Given the description of an element on the screen output the (x, y) to click on. 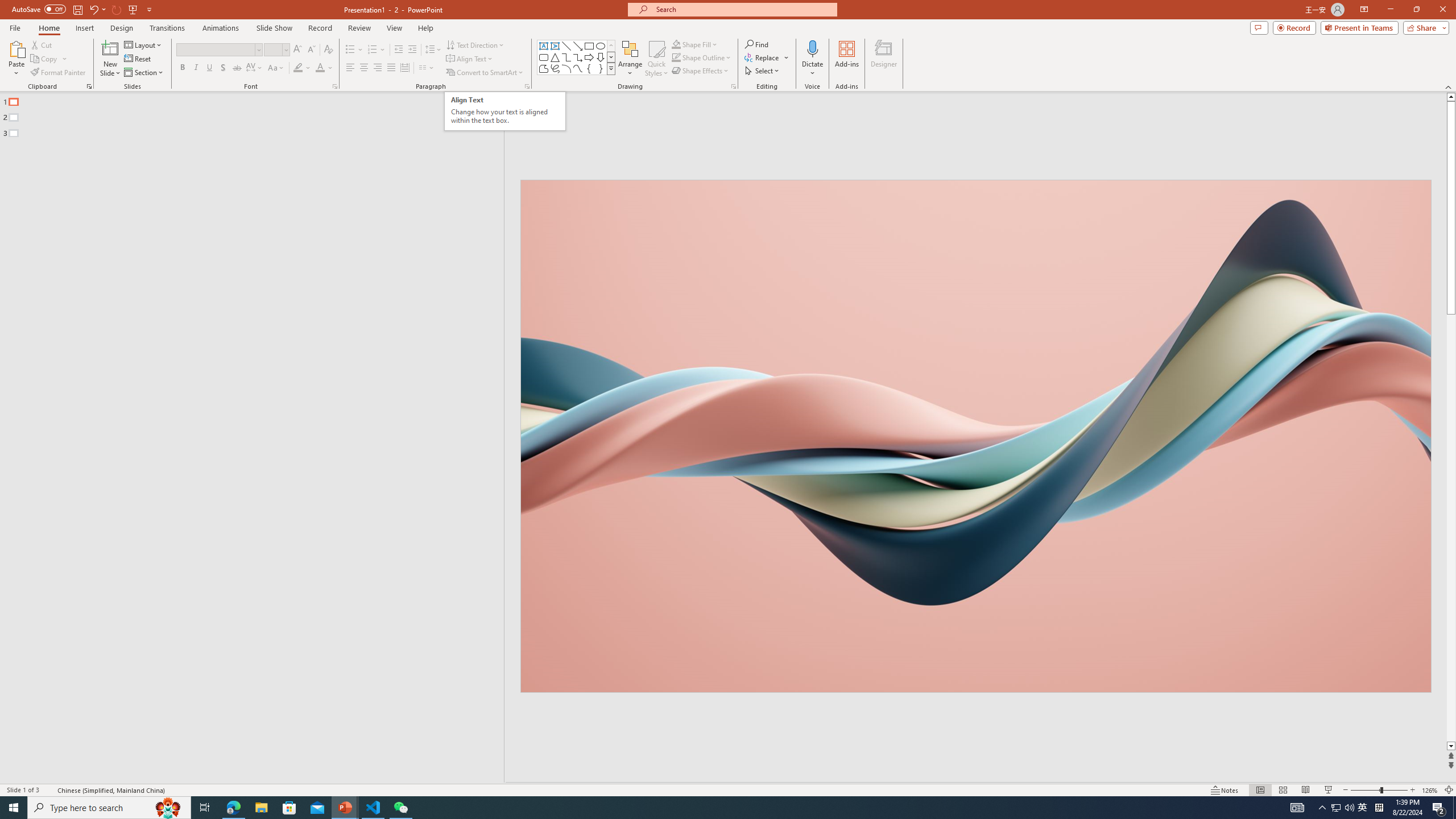
Spell Check  (49, 790)
